Given the description of an element on the screen output the (x, y) to click on. 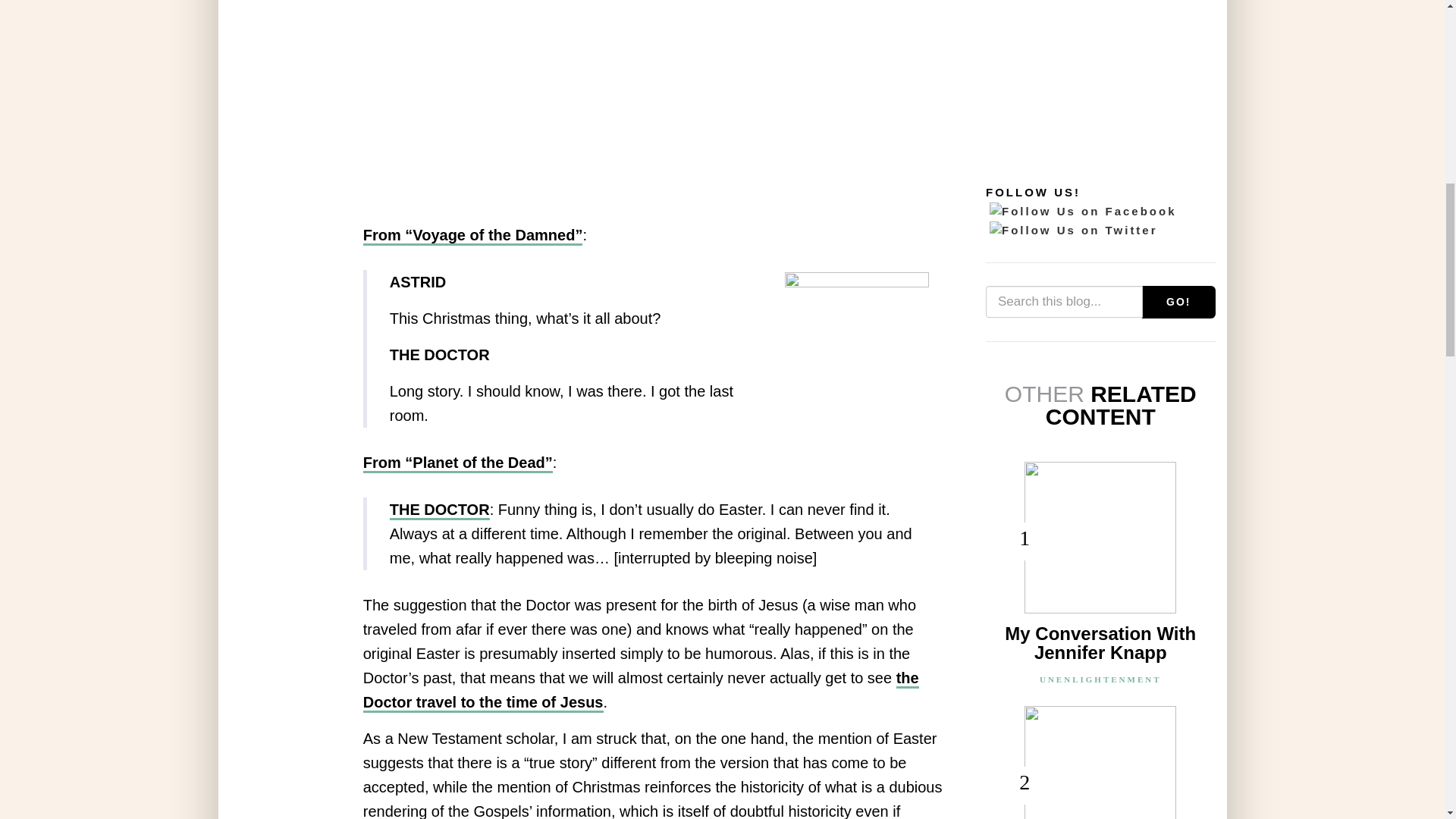
Follow Us on Twitter (1073, 230)
Go! (1177, 301)
Follow Us on Facebook (1083, 211)
